Given the description of an element on the screen output the (x, y) to click on. 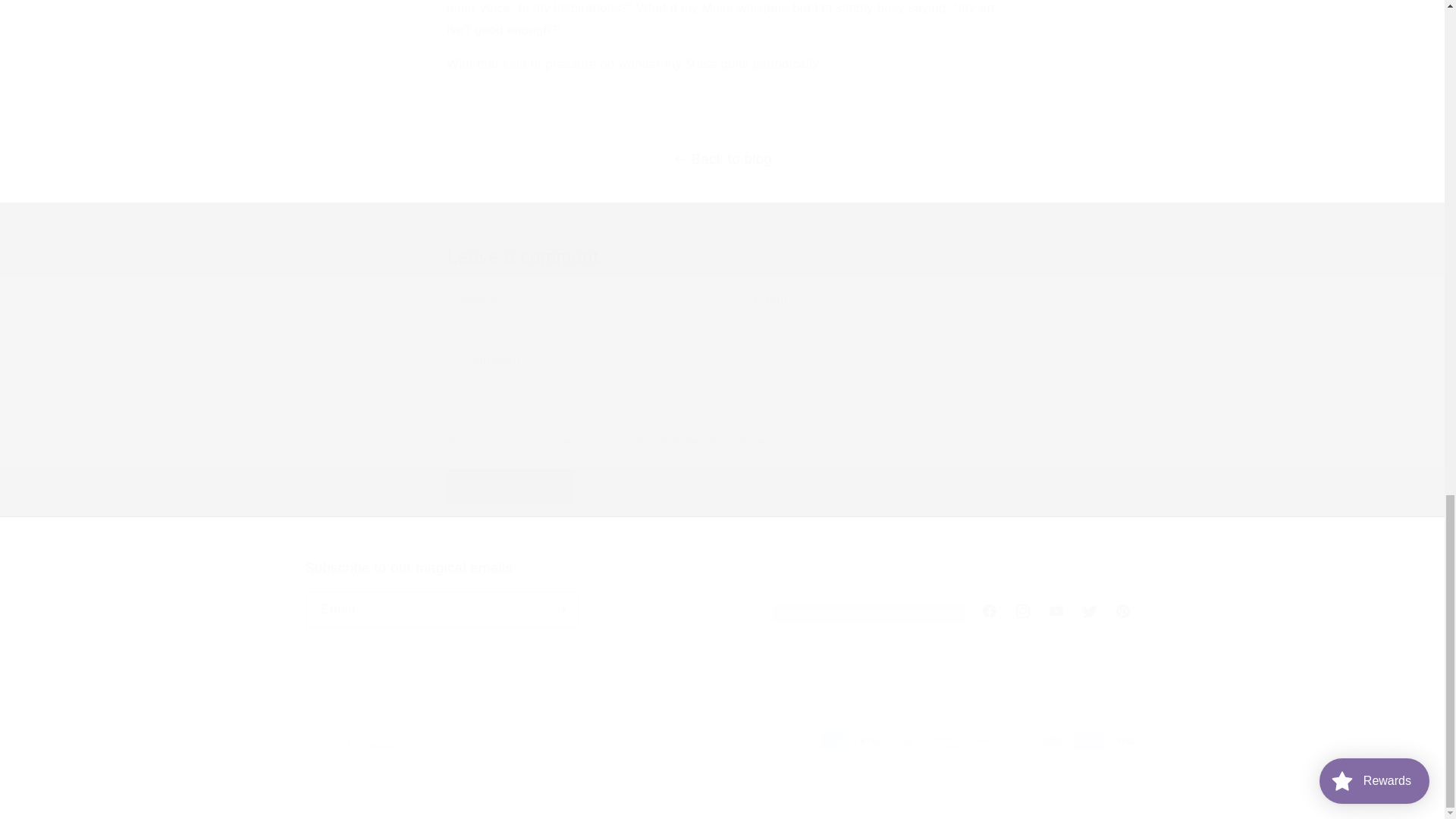
Post comment (510, 486)
